Given the description of an element on the screen output the (x, y) to click on. 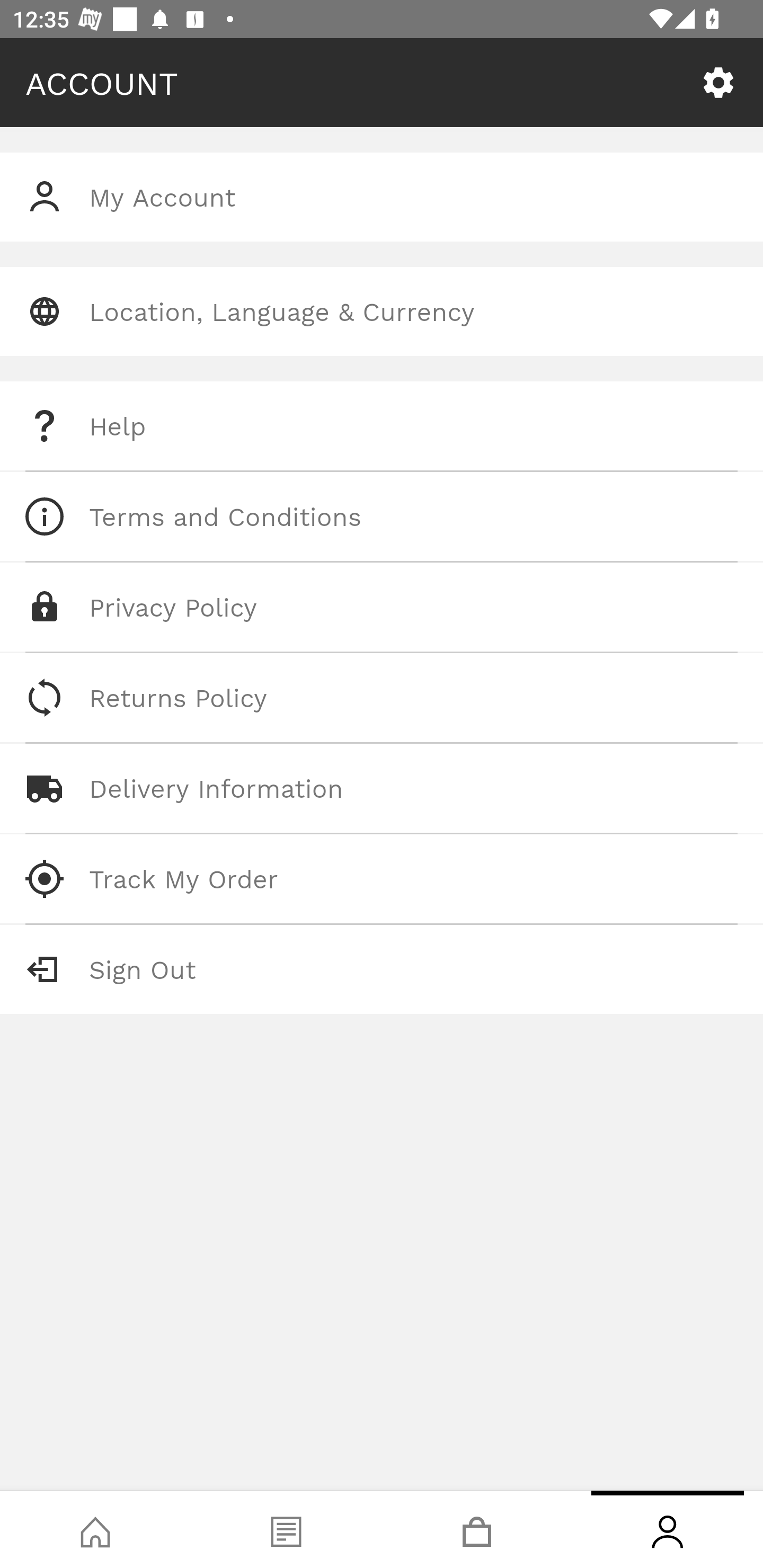
SETTINGS (718, 82)
My Account (381, 196)
Location, Language & Currency (381, 310)
Help (381, 425)
Terms and Conditions (381, 516)
Privacy Policy (381, 607)
Returns Policy (381, 697)
Delivery Information (381, 787)
Track My Order (381, 878)
Sign Out (381, 969)
Shop, tab, 1 of 4 (95, 1529)
Blog, tab, 2 of 4 (285, 1529)
Basket, tab, 3 of 4 (476, 1529)
Account, tab, 4 of 4 (667, 1529)
